Given the description of an element on the screen output the (x, y) to click on. 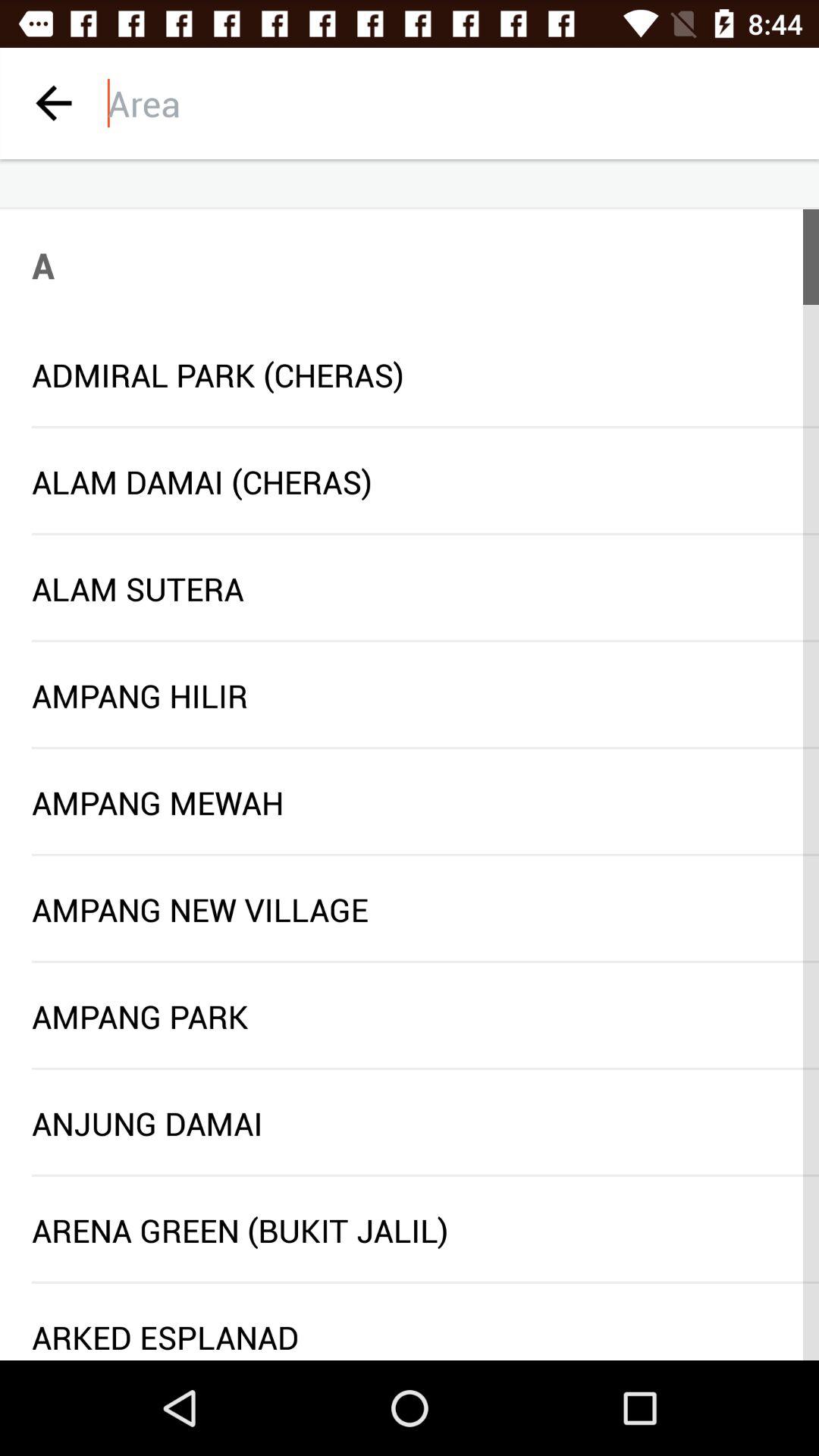
scroll until ampang park icon (409, 1015)
